Given the description of an element on the screen output the (x, y) to click on. 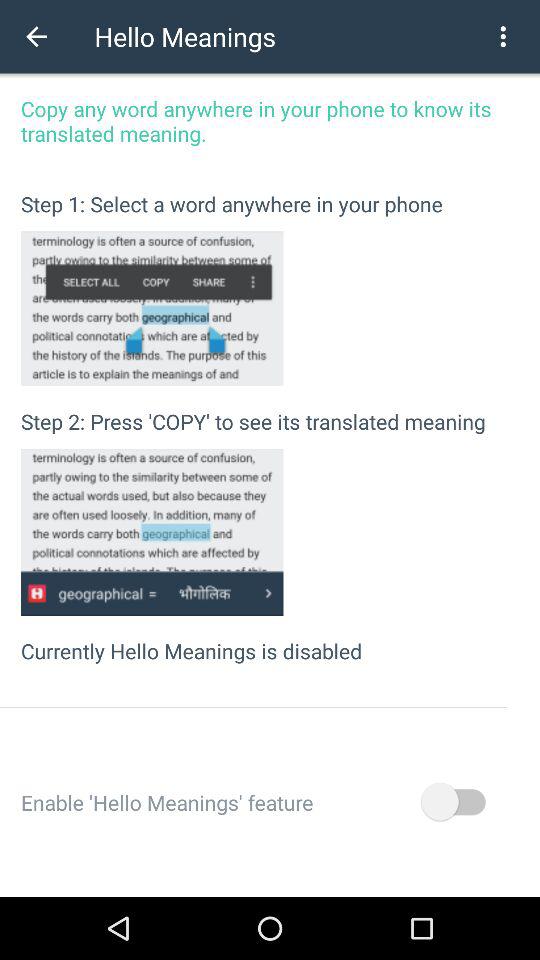
switch to enable (452, 802)
